Given the description of an element on the screen output the (x, y) to click on. 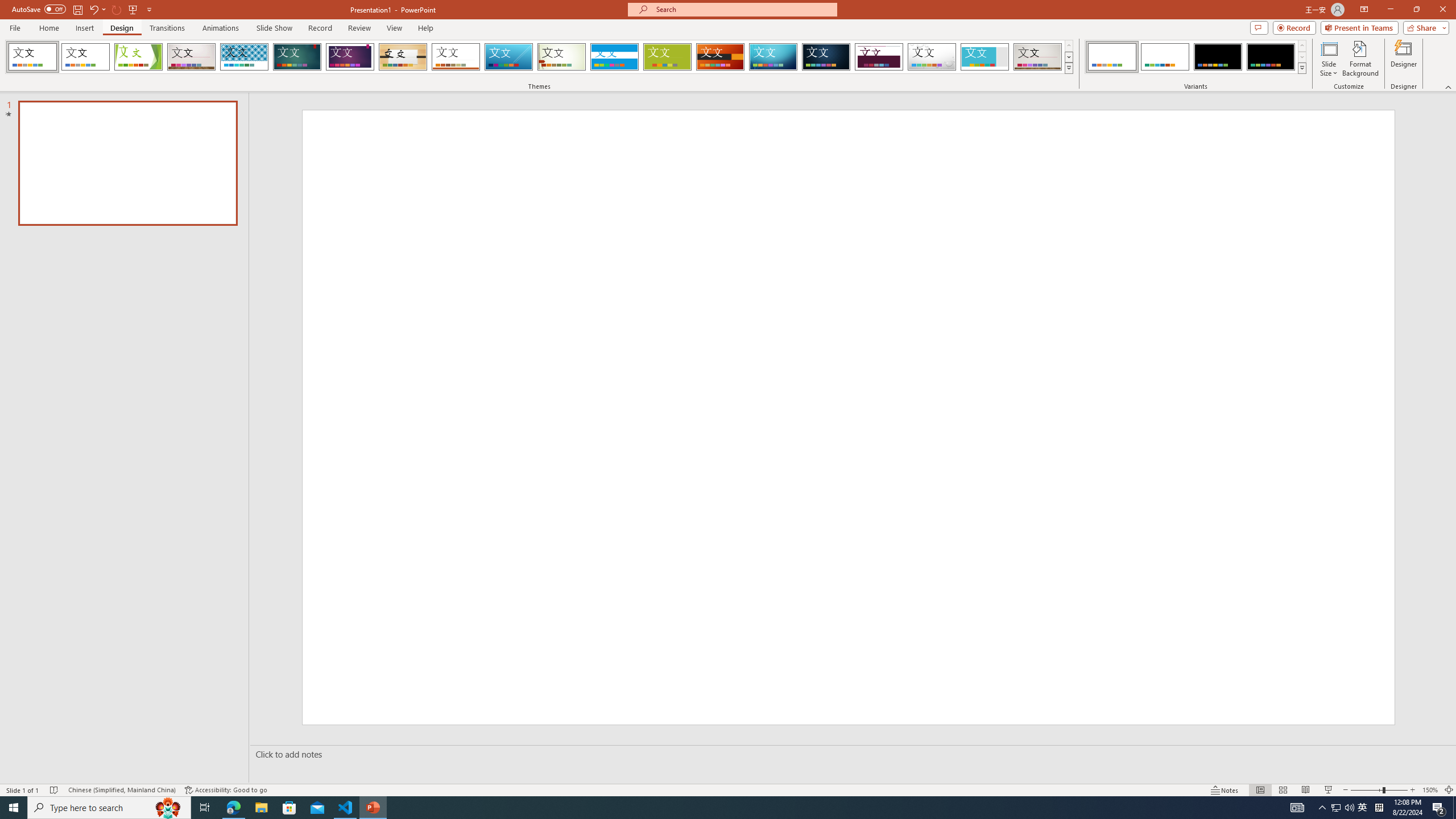
Droplet Loading Preview... (931, 56)
Frame Loading Preview... (984, 56)
Damask Loading Preview... (826, 56)
Office Theme (85, 56)
Ion Loading Preview... (296, 56)
